Given the description of an element on the screen output the (x, y) to click on. 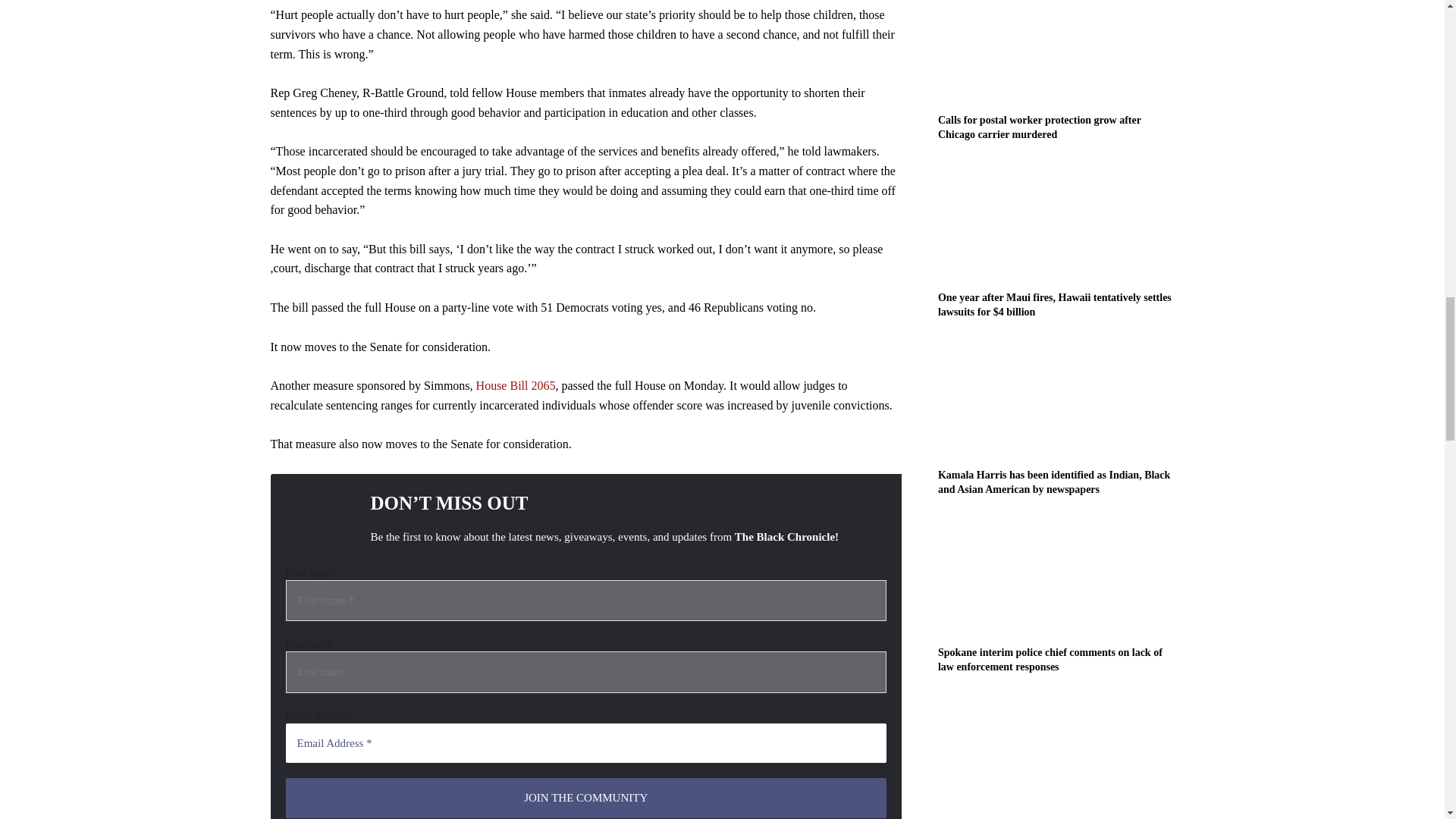
JOIN THE COMMUNITY (585, 798)
